Given the description of an element on the screen output the (x, y) to click on. 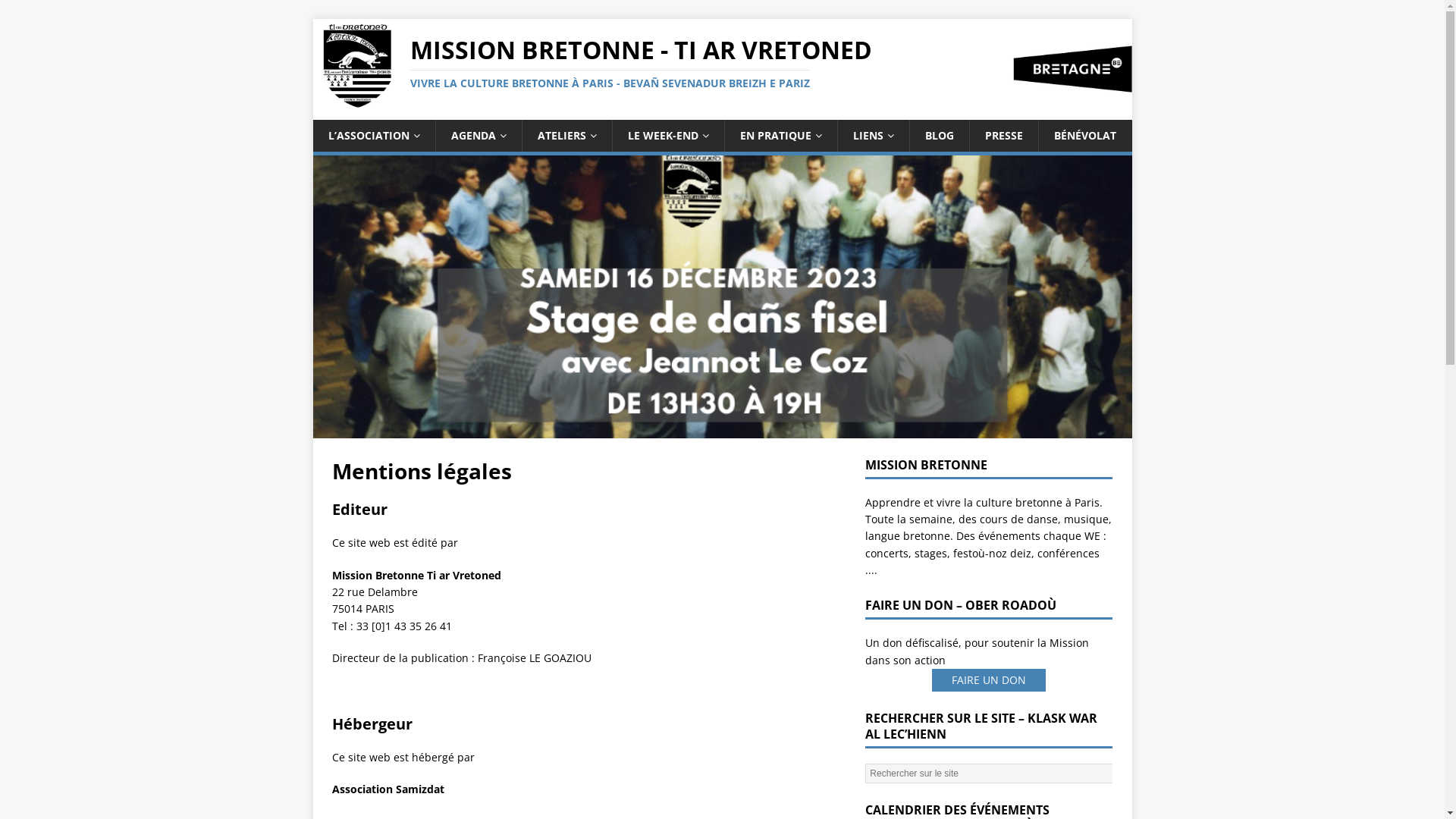
LE WEEK-END Element type: text (667, 135)
LIENS Element type: text (873, 135)
BLOG Element type: text (938, 135)
AGENDA Element type: text (478, 135)
FAIRE UN DON Element type: text (988, 679)
PRESSE Element type: text (1003, 135)
ATELIERS Element type: text (566, 135)
EN PRATIQUE Element type: text (779, 135)
2023-12-16 Stage dans fisel Slide Element type: hover (722, 296)
